Given the description of an element on the screen output the (x, y) to click on. 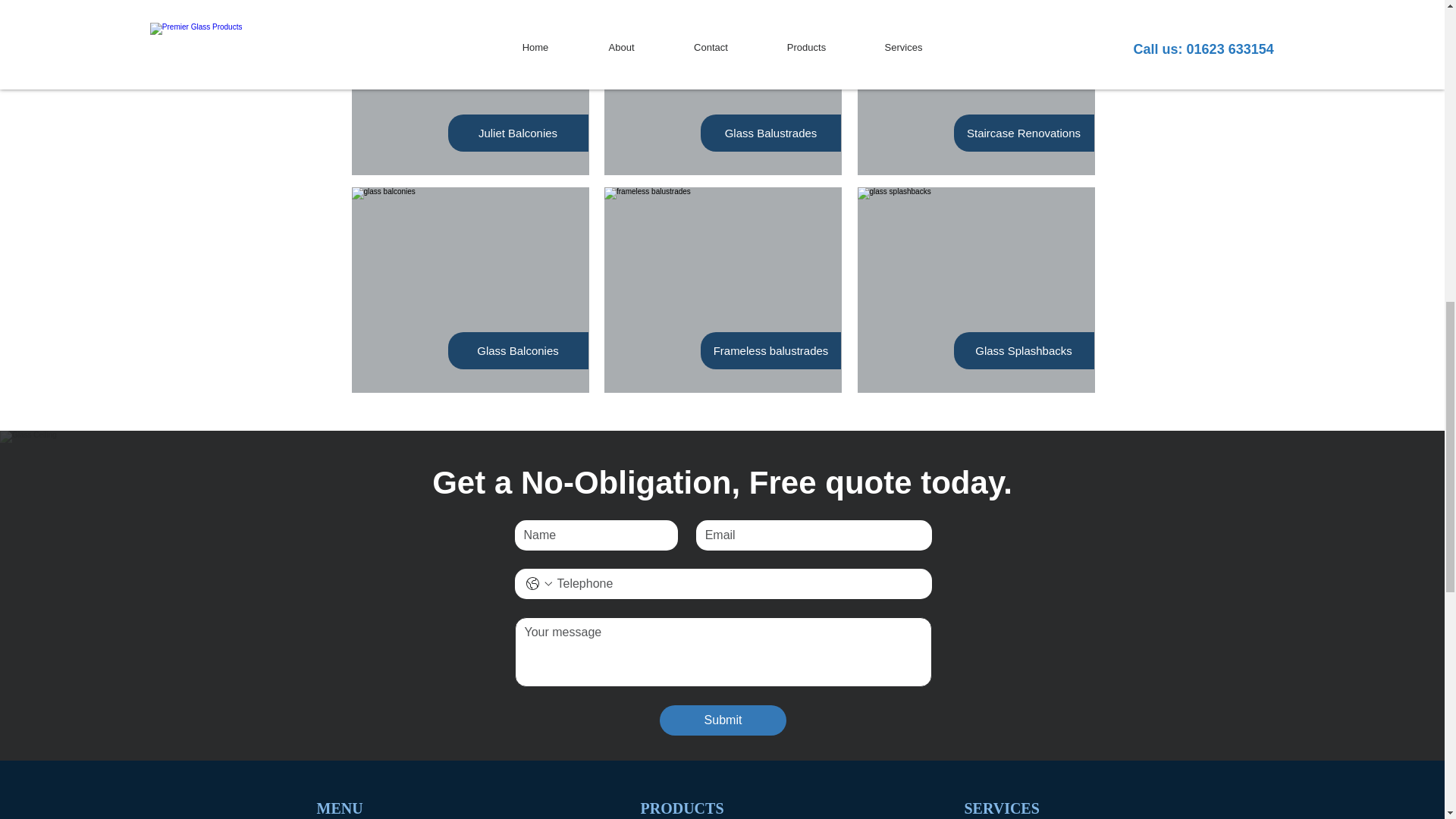
Juliet Balconies (518, 132)
Glass Balconies (518, 350)
Frameless balustrades (770, 350)
Glass Splashbacks (1023, 350)
Glass Balustrades (770, 132)
Staircase Renovations (1023, 132)
Submit (722, 720)
